Given the description of an element on the screen output the (x, y) to click on. 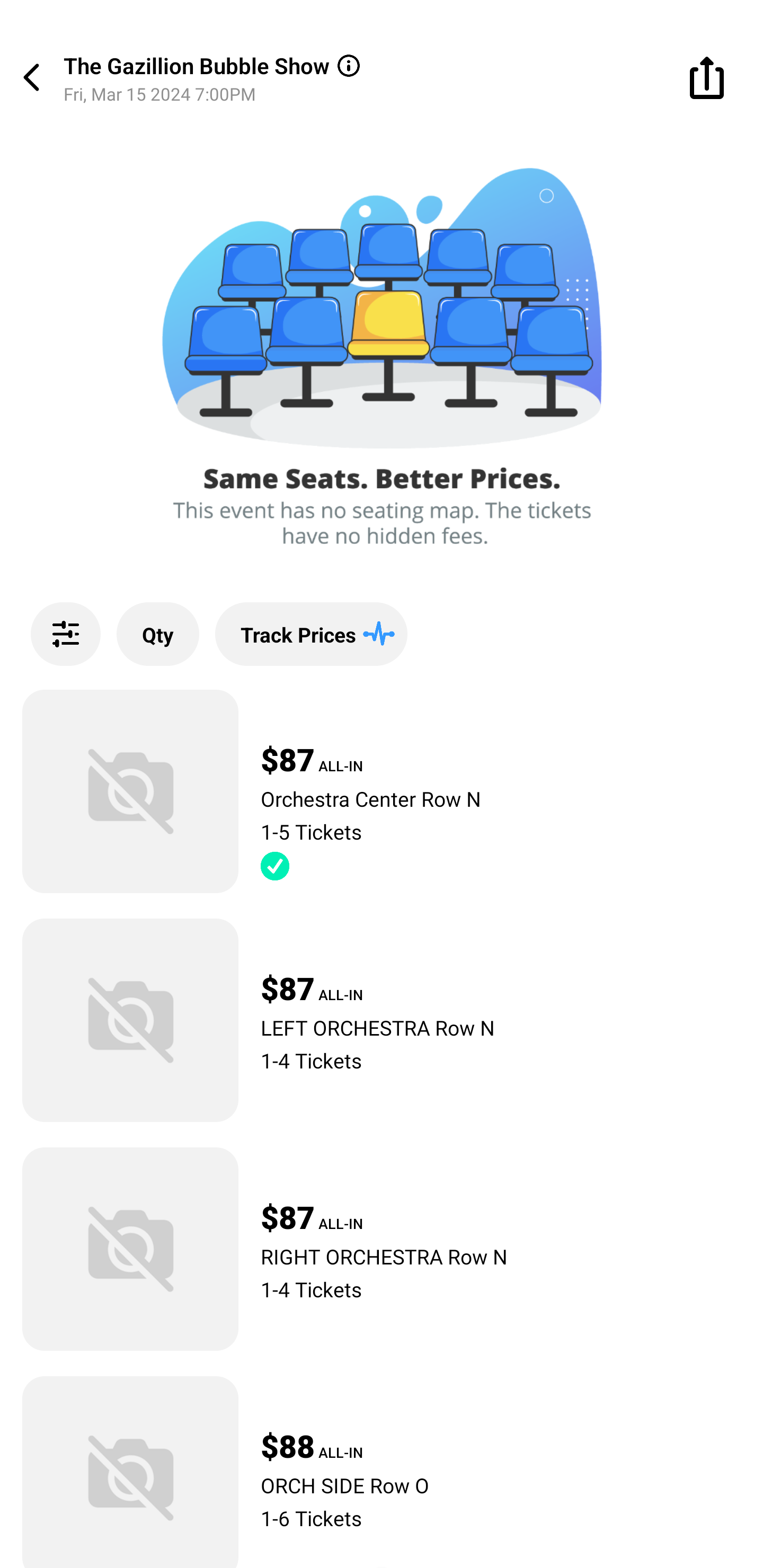
Qty (157, 634)
Track Prices (311, 634)
